Given the description of an element on the screen output the (x, y) to click on. 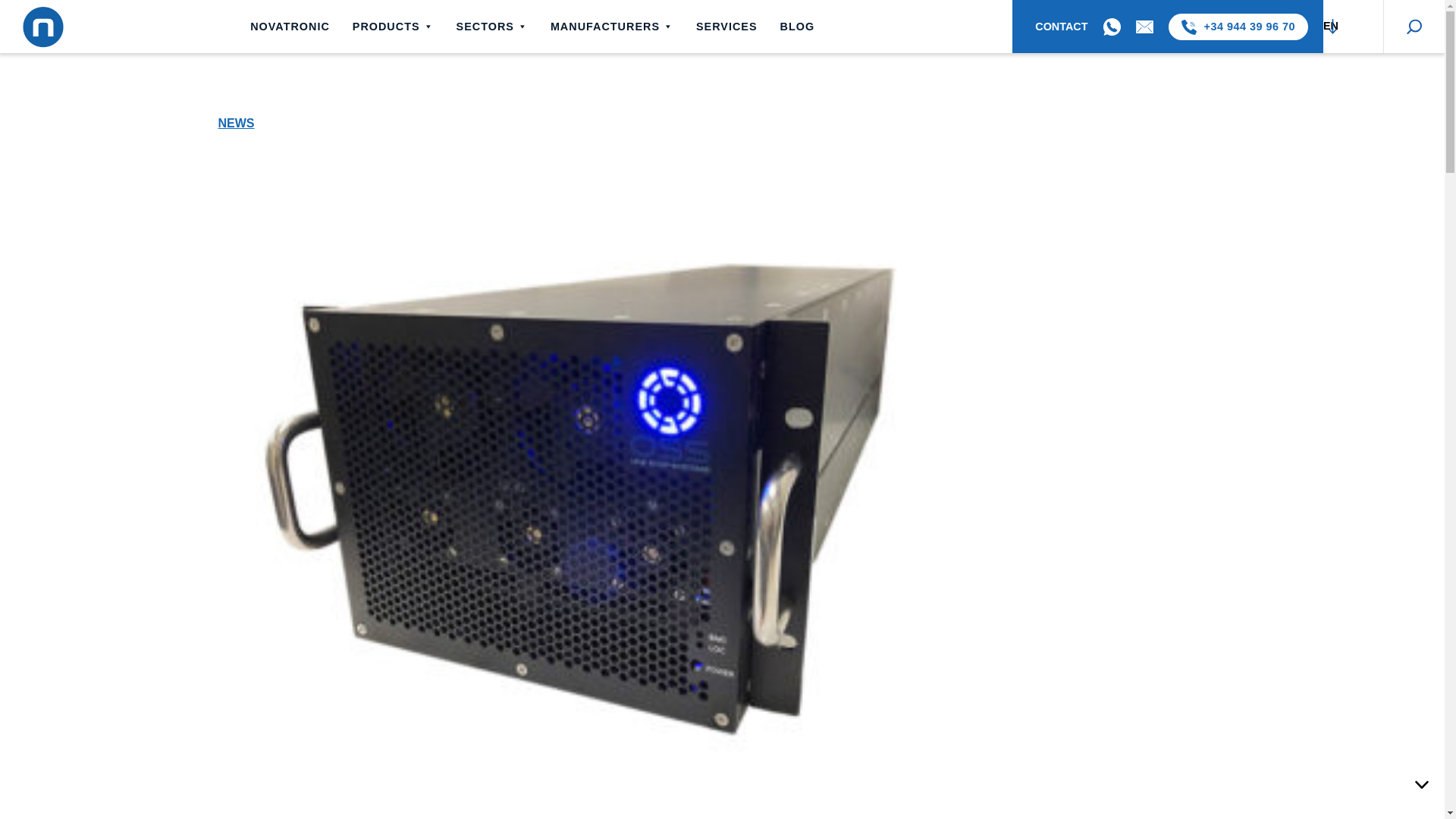
EN (1353, 26)
NOVATRONIC (289, 26)
PRODUCTS (392, 26)
